Given the description of an element on the screen output the (x, y) to click on. 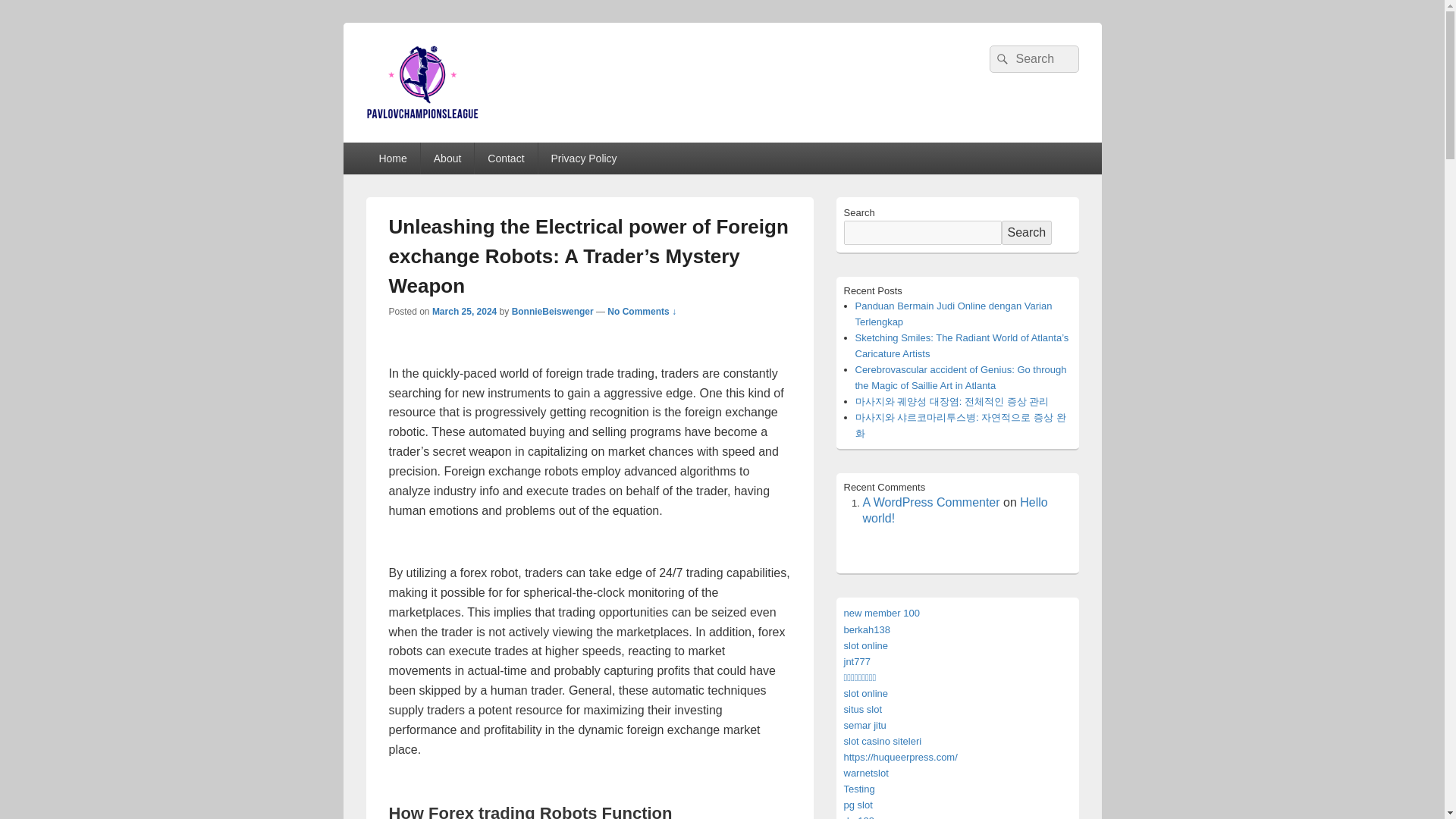
7:05 am (464, 311)
new member 100 (880, 613)
berkah138 (866, 629)
About (447, 158)
slot casino siteleri (882, 740)
pavlovchampionsleague (523, 136)
Contact (505, 158)
Panduan Bermain Judi Online dengan Varian Terlengkap (954, 313)
warnetslot (865, 772)
Testing (859, 788)
BonnieBeiswenger (553, 311)
Search for: (1033, 58)
Home (392, 158)
slot online (865, 645)
jnt777 (856, 661)
